Given the description of an element on the screen output the (x, y) to click on. 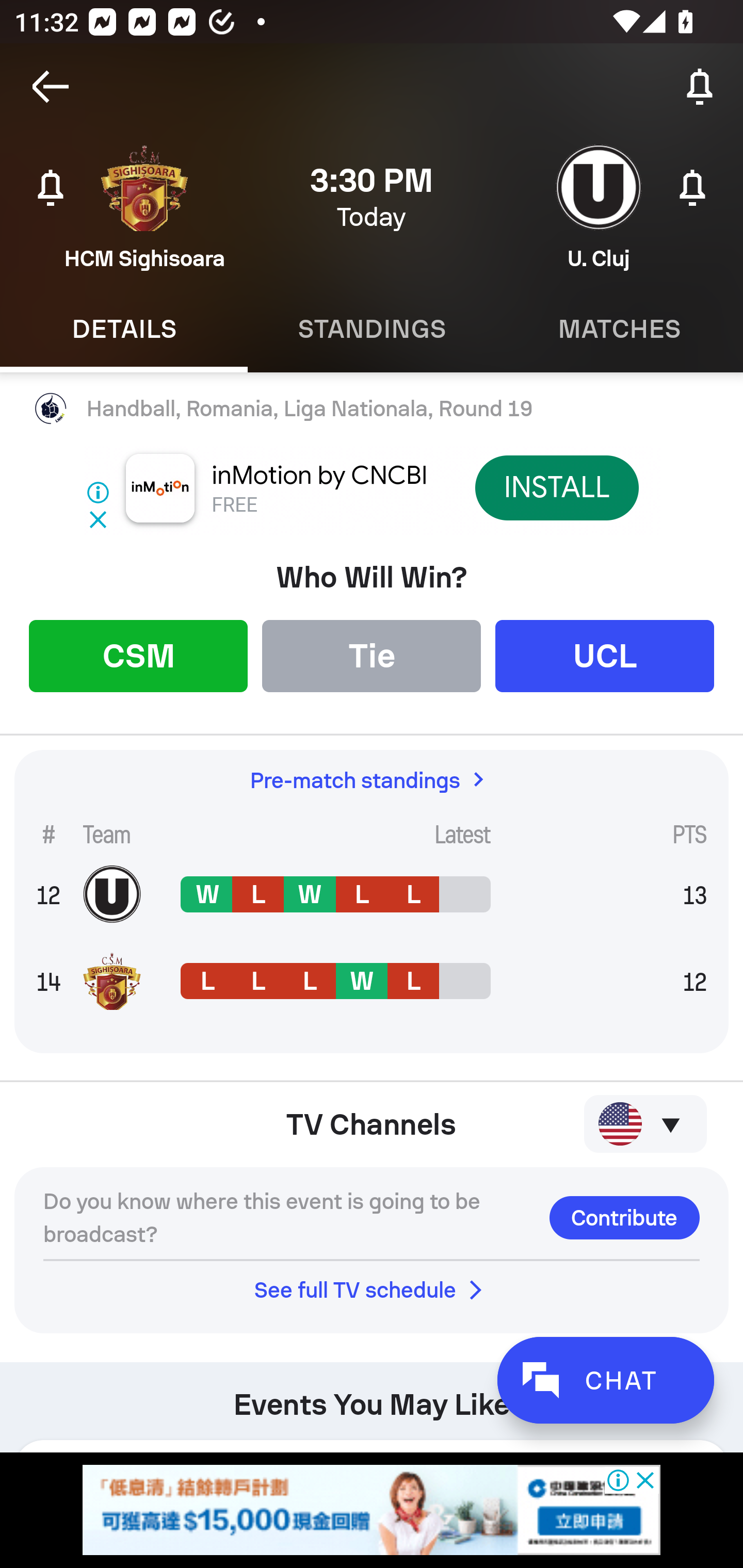
Navigate up (50, 86)
Standings STANDINGS (371, 329)
Matches MATCHES (619, 329)
Handball, Romania, Liga Nationala, Round 19 (371, 409)
INSTALL (556, 487)
inMotion by CNCBI (319, 475)
FREE (234, 505)
CSM (137, 655)
Tie (371, 655)
UCL (604, 655)
Contribute (624, 1217)
See full TV schedule (371, 1289)
CHAT (605, 1380)
Advertisement (371, 1509)
